Given the description of an element on the screen output the (x, y) to click on. 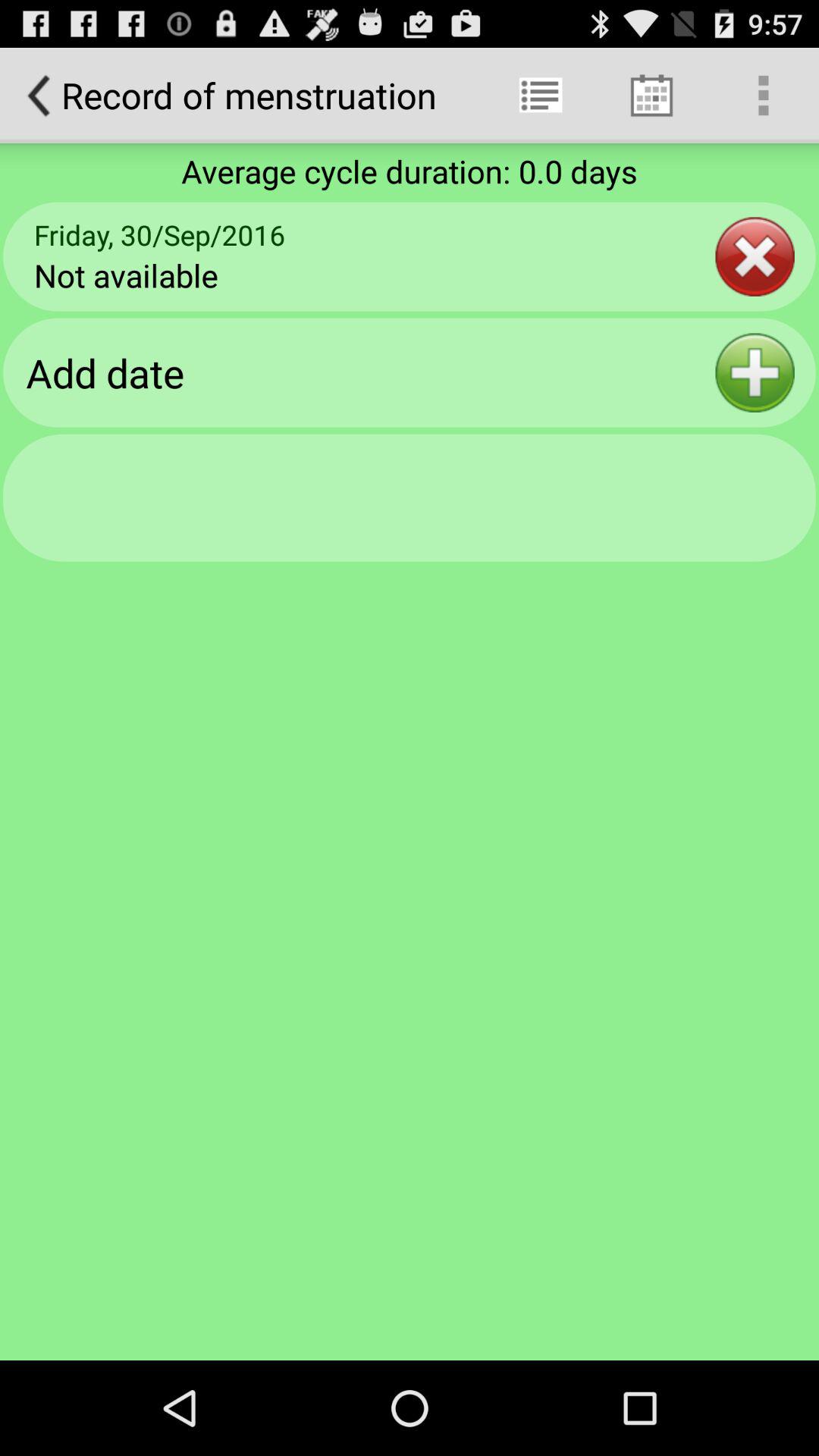
delete entry (754, 256)
